Given the description of an element on the screen output the (x, y) to click on. 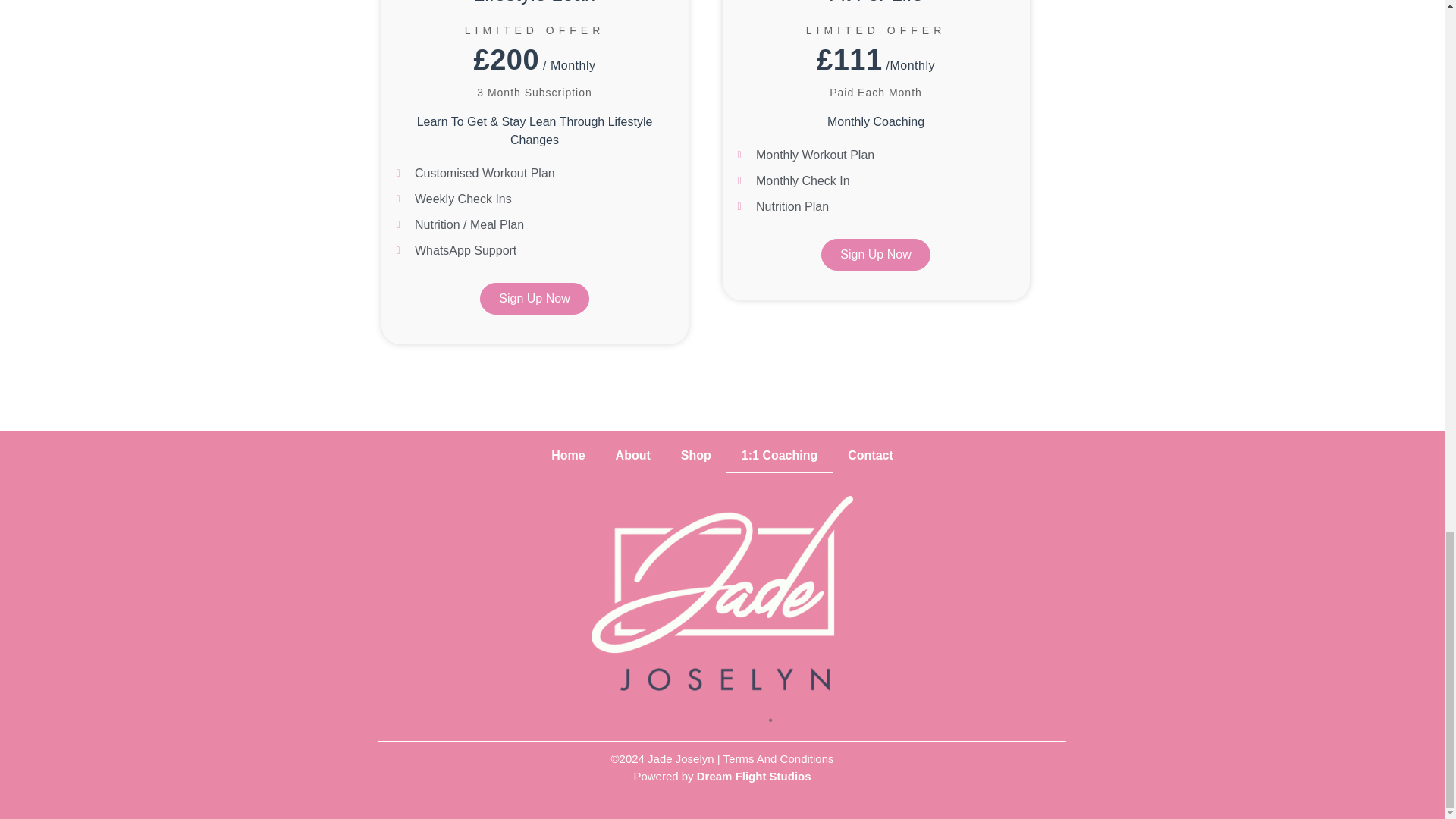
1:1 Coaching (779, 455)
Sign Up Now (875, 255)
Home (567, 455)
Contact (870, 455)
About (632, 455)
Sign Up Now (534, 298)
Shop (695, 455)
Powered by Dream Flight Studios (721, 775)
